Given the description of an element on the screen output the (x, y) to click on. 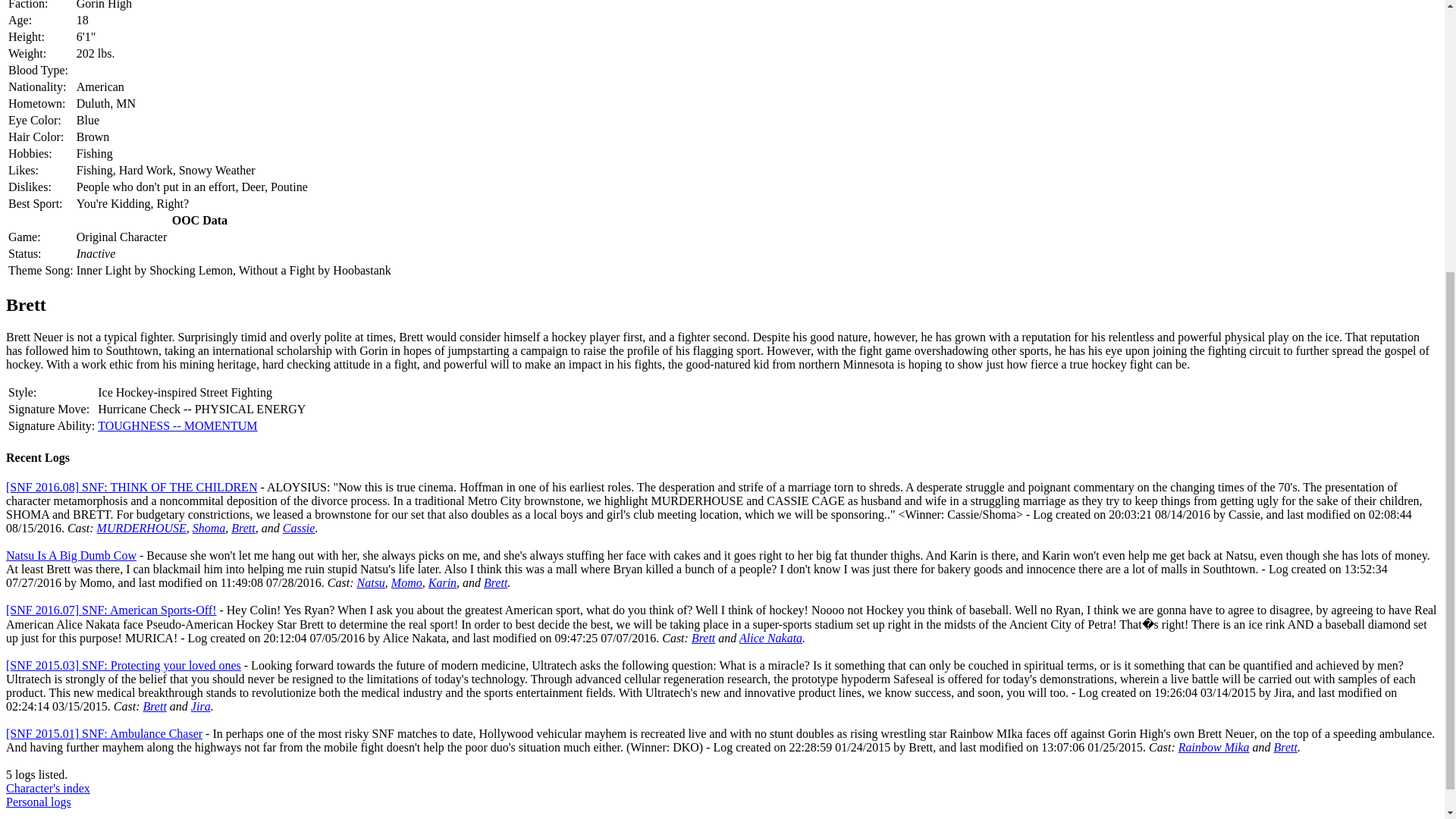
Shoma (208, 527)
Brett (242, 527)
Natsu Is A Big Dumb Cow (70, 554)
Brett (494, 582)
Karin (442, 582)
Natsu (370, 582)
Momo (406, 582)
MURDERHOUSE (141, 527)
Cassie (298, 527)
TOUGHNESS -- MOMENTUM (177, 425)
